Given the description of an element on the screen output the (x, y) to click on. 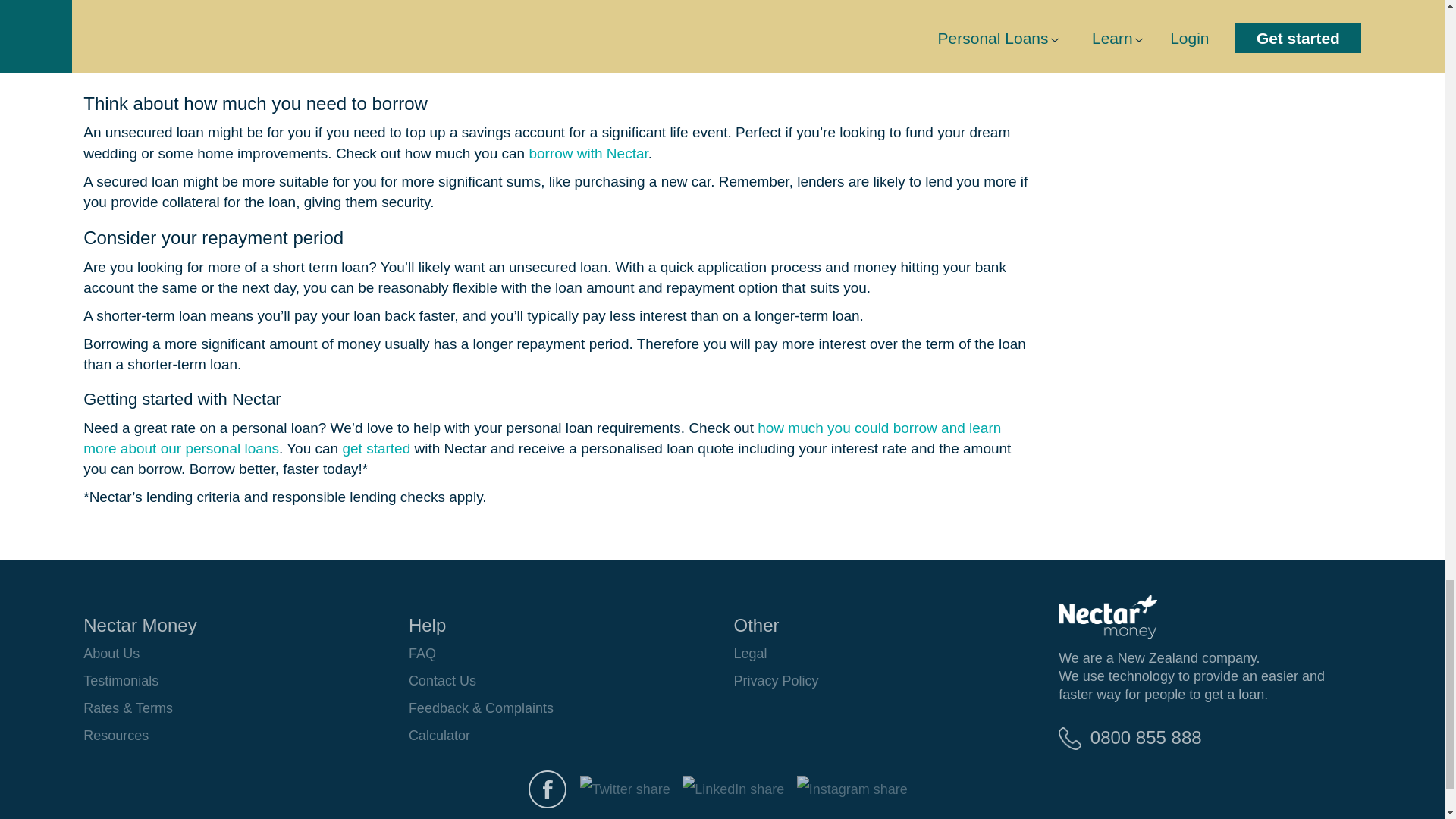
Resources (115, 735)
Twitter (624, 788)
get started (376, 448)
Testimonials (120, 680)
About Us (110, 653)
borrow with Nectar (587, 153)
Instagram (851, 788)
About Us (110, 653)
Facebook (547, 788)
Testimonials (120, 680)
